Given the description of an element on the screen output the (x, y) to click on. 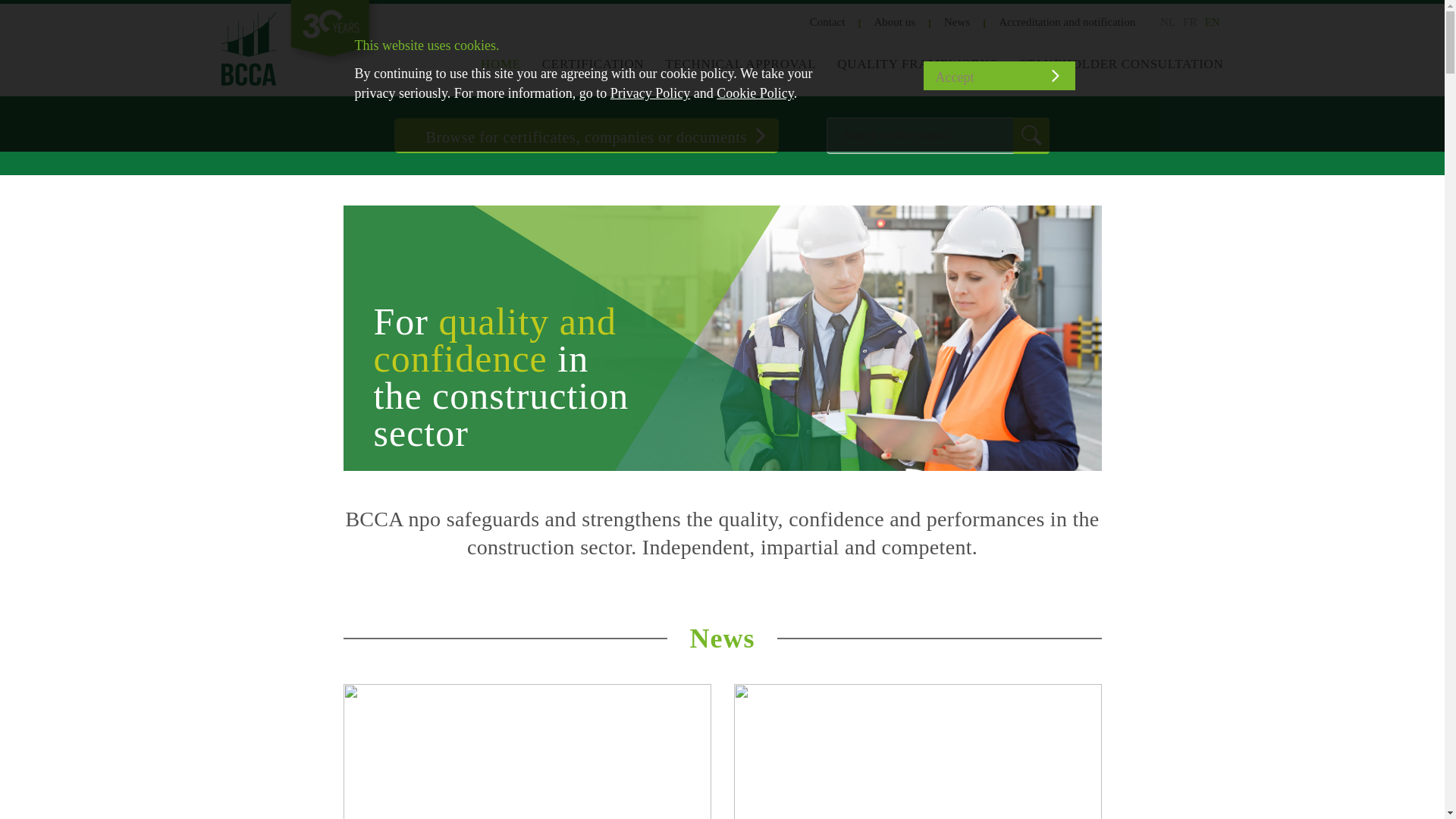
Accreditation and notification (1066, 21)
NL (1167, 21)
QUALITY FRAMEWORKS (917, 63)
News (956, 21)
STAKEHOLDER CONSULTATION (1121, 63)
Contact (827, 21)
About us (894, 21)
HOME (500, 63)
CERTIFICATION (593, 63)
EN (1212, 21)
FR (1189, 21)
TECHNICAL APPROVAL (740, 63)
